Given the description of an element on the screen output the (x, y) to click on. 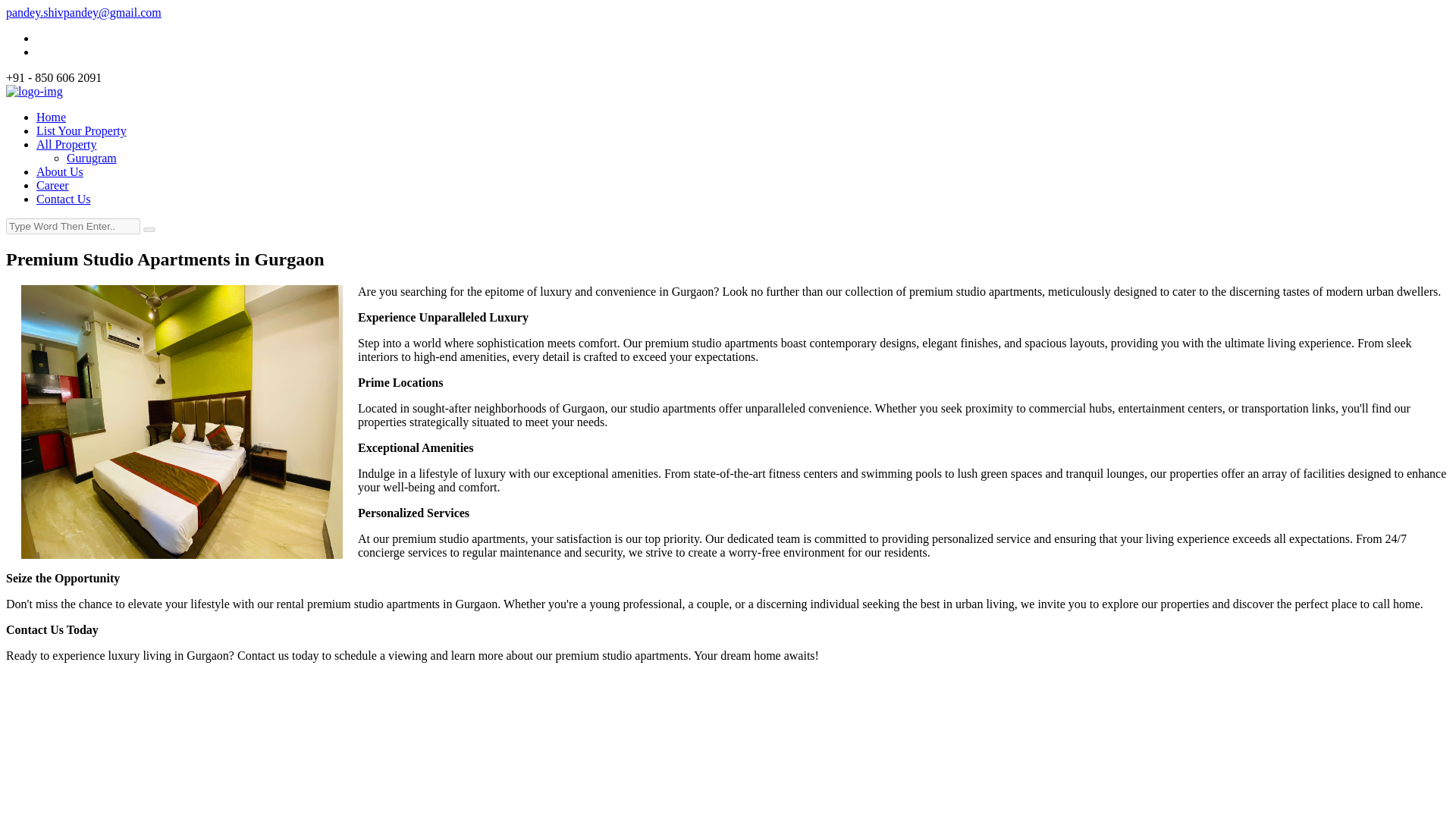
List Your Property (81, 130)
Career (52, 185)
Contact Us (63, 198)
Gurugram (91, 157)
All Property (66, 144)
Inoterior (33, 91)
About Us (59, 171)
Home (50, 116)
